Given the description of an element on the screen output the (x, y) to click on. 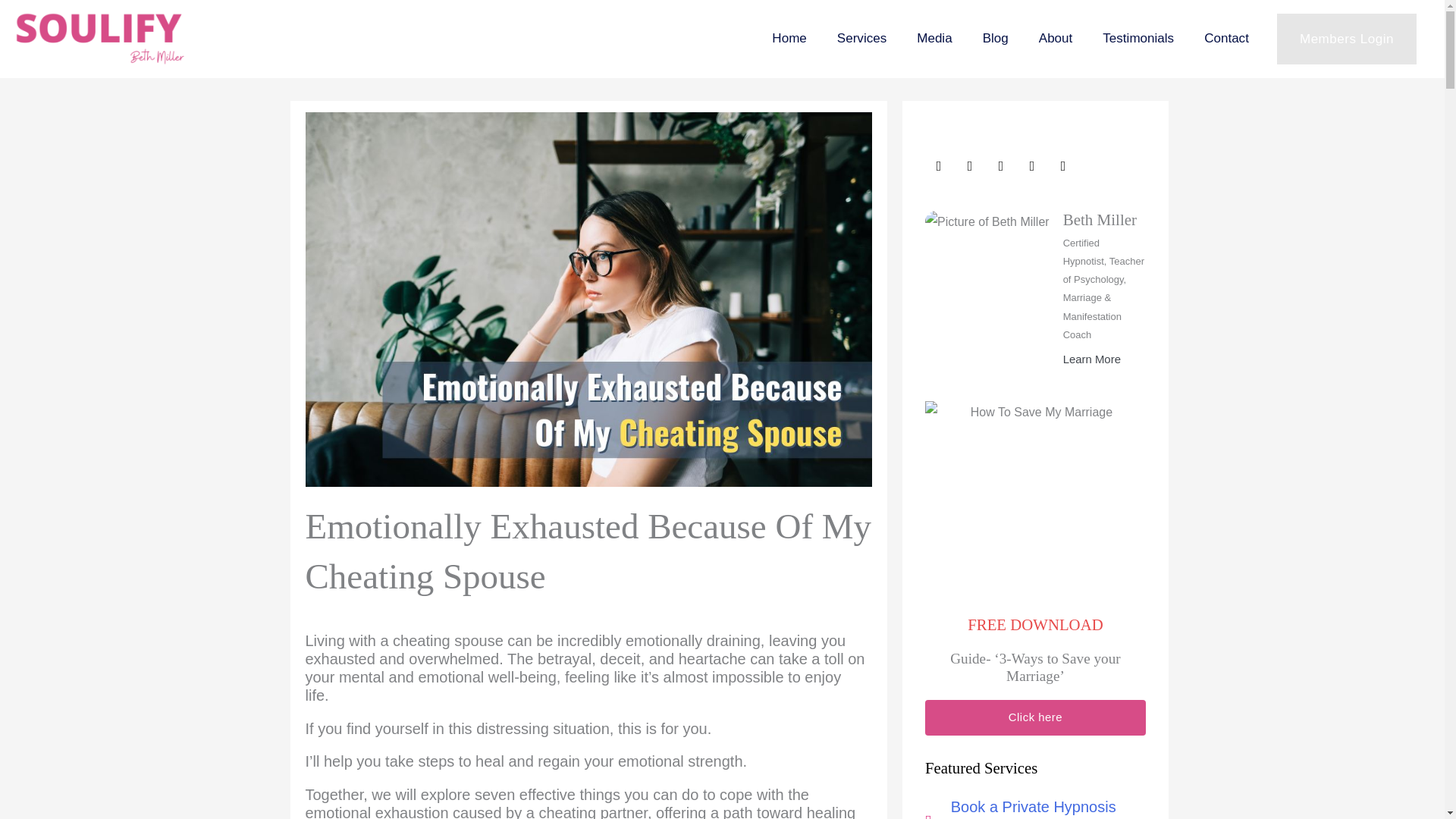
Instagram (938, 165)
Testimonials (1138, 38)
Linkedin (1000, 165)
Contact (1226, 38)
Members Login (1346, 39)
Pinterest (1031, 165)
Services (861, 38)
Learn More (1091, 359)
Facebook (970, 165)
Map-marked (1063, 165)
Book a Private Hypnosis Session (1034, 806)
Click here (1034, 717)
